Given the description of an element on the screen output the (x, y) to click on. 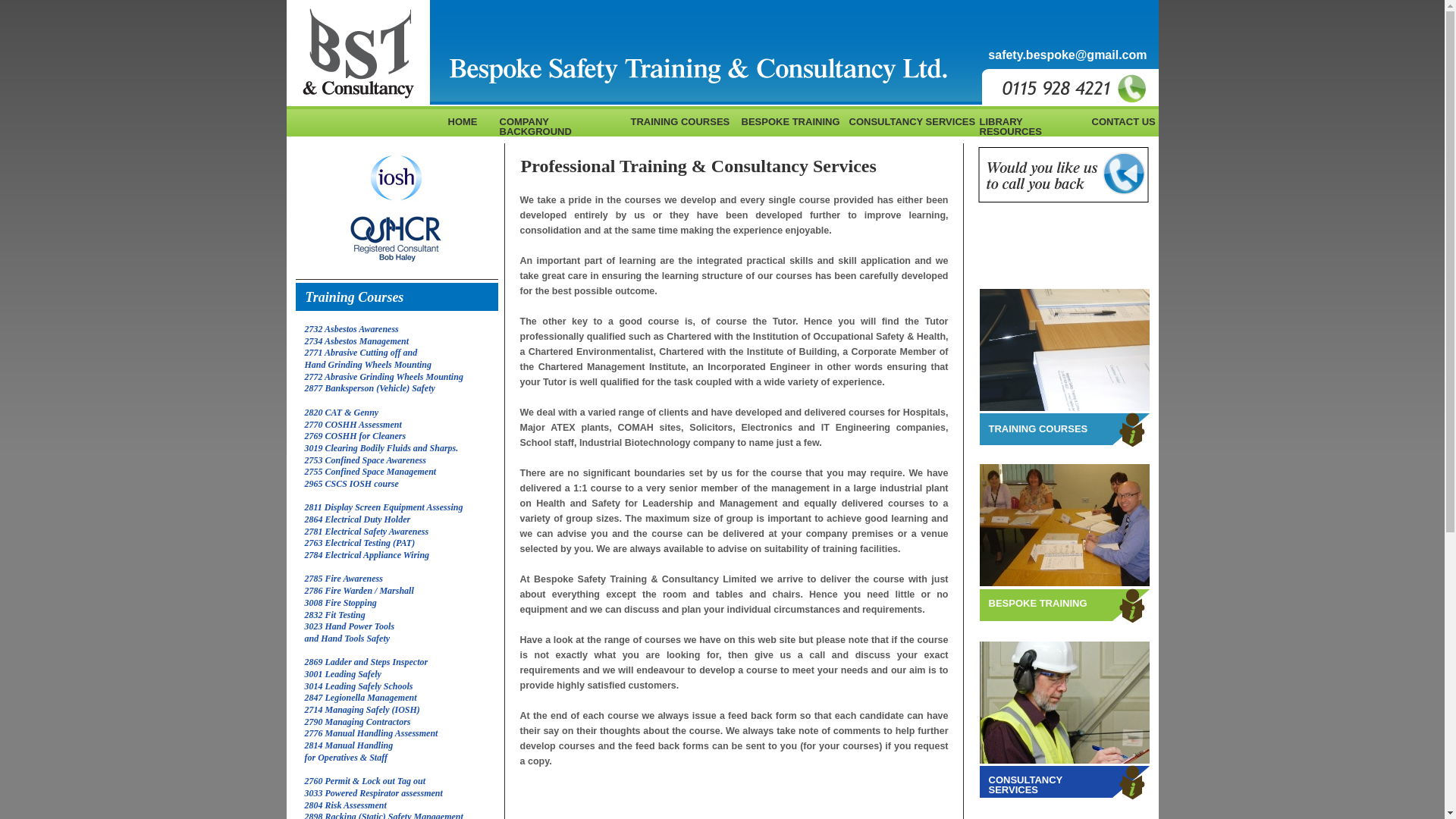
2790 Managing Contractors (357, 721)
3019 Clearing Bodily Fluids and Sharps. (381, 448)
Hand Grinding Wheels Mounting (368, 364)
CONSULTANCY SERVICES (1025, 784)
2732 Asbestos Awareness (351, 328)
TRAINING COURSES (1037, 428)
3001 Leading Safely (342, 674)
2814 Manual Handling (348, 745)
2784 Electrical Appliance Wiring (366, 554)
3008 Fire Stopping (340, 602)
2864 Electrical Duty Holder (357, 519)
2869 Ladder and Steps Inspector (366, 661)
2770 COSHH Assessment (352, 423)
2772 Abrasive Grinding Wheels Mounting (383, 376)
2832 Fit Testing (334, 614)
